Given the description of an element on the screen output the (x, y) to click on. 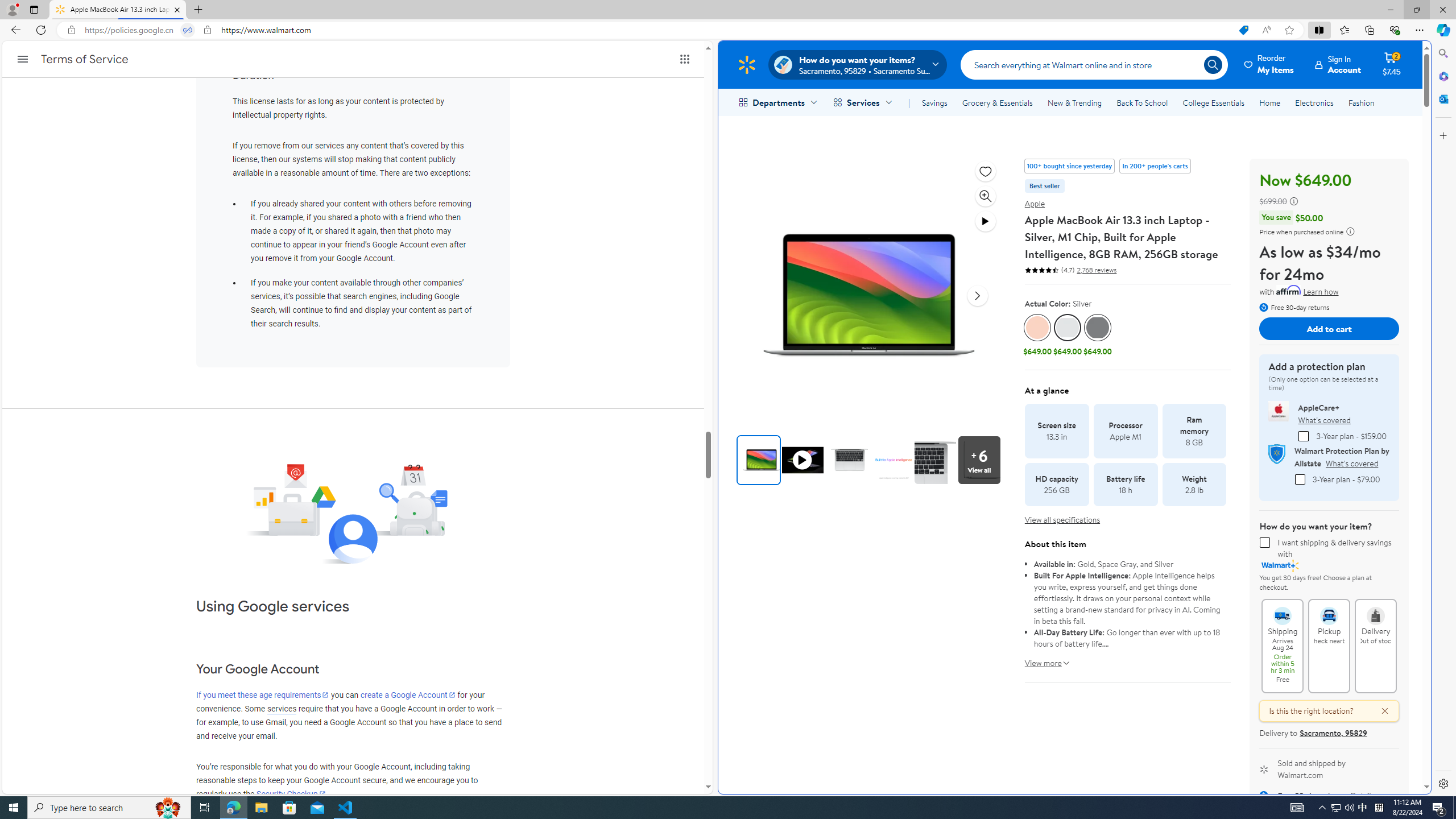
Pickup Check nearby Pickup Check nearby (1329, 645)
This site has coupons! Shopping in Microsoft Edge, 7 (1243, 29)
View video (985, 221)
3-Year plan - $159.00 (1303, 435)
Space Gray selected, Space Gray, $649.00 (1096, 335)
Electronics (1314, 102)
